Given the description of an element on the screen output the (x, y) to click on. 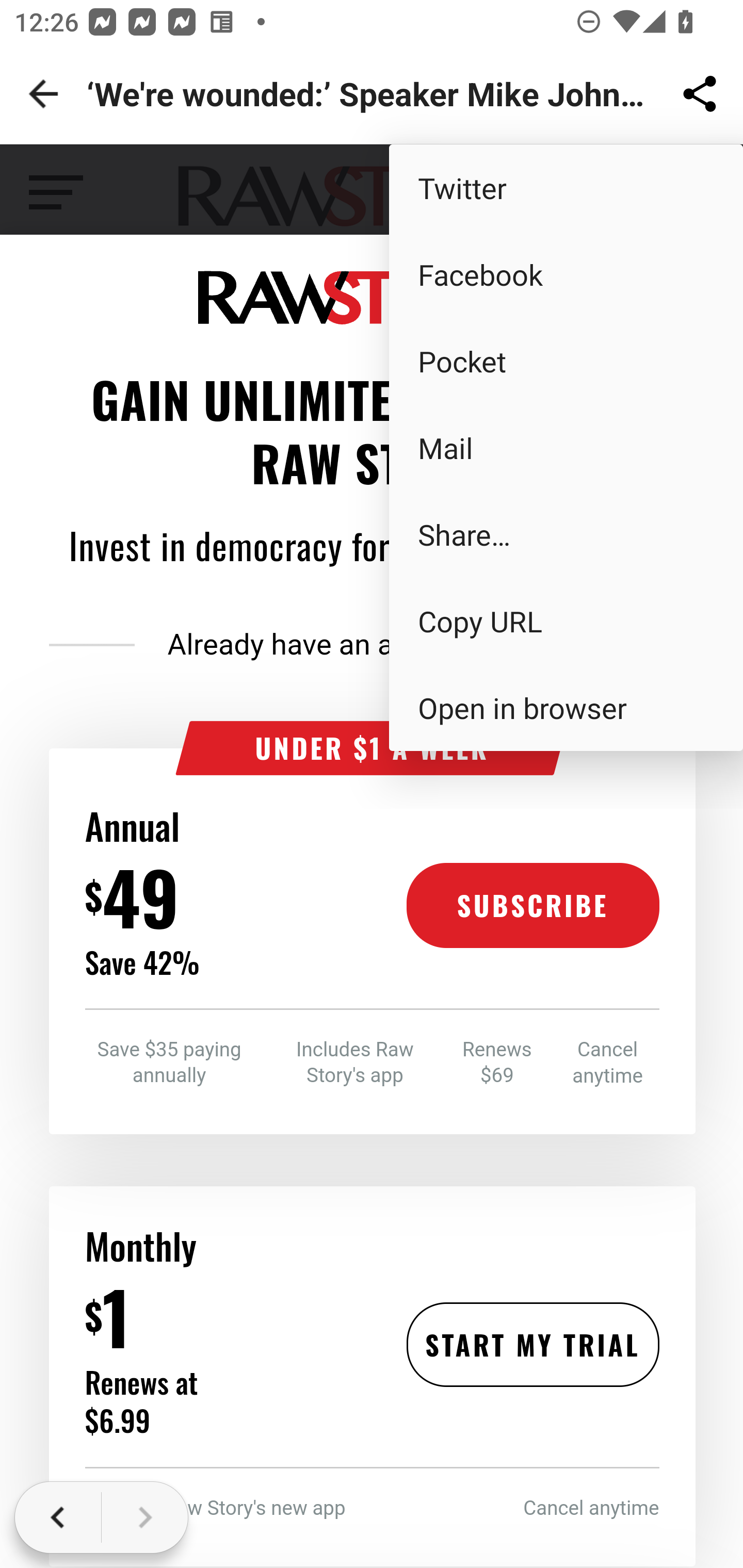
Twitter (566, 187)
Facebook (566, 274)
Pocket (566, 361)
Mail (566, 447)
Share… (566, 533)
Copy URL (566, 620)
Open in browser (566, 707)
